Given the description of an element on the screen output the (x, y) to click on. 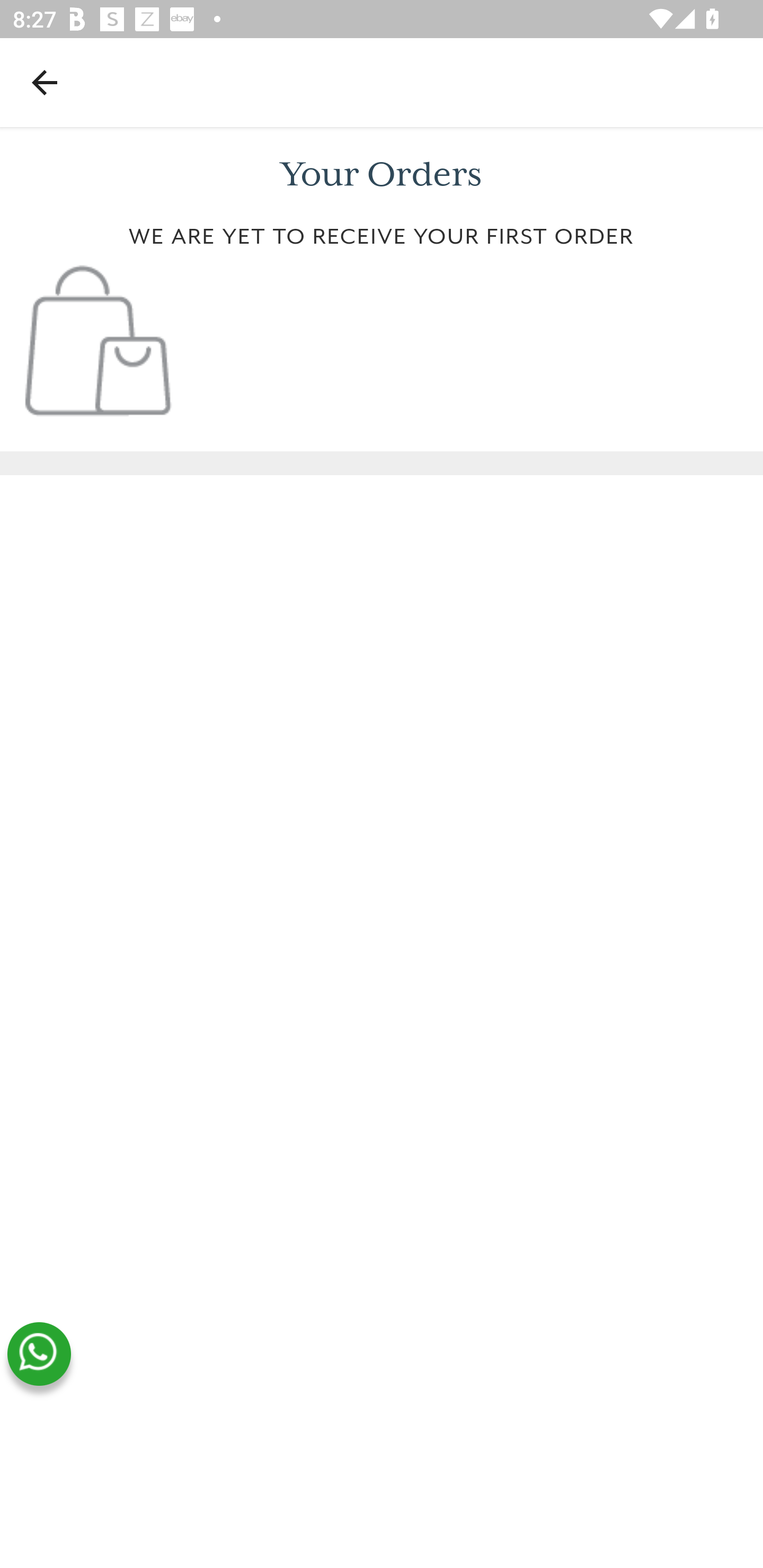
Navigate up (44, 82)
whatsapp (38, 1353)
